Given the description of an element on the screen output the (x, y) to click on. 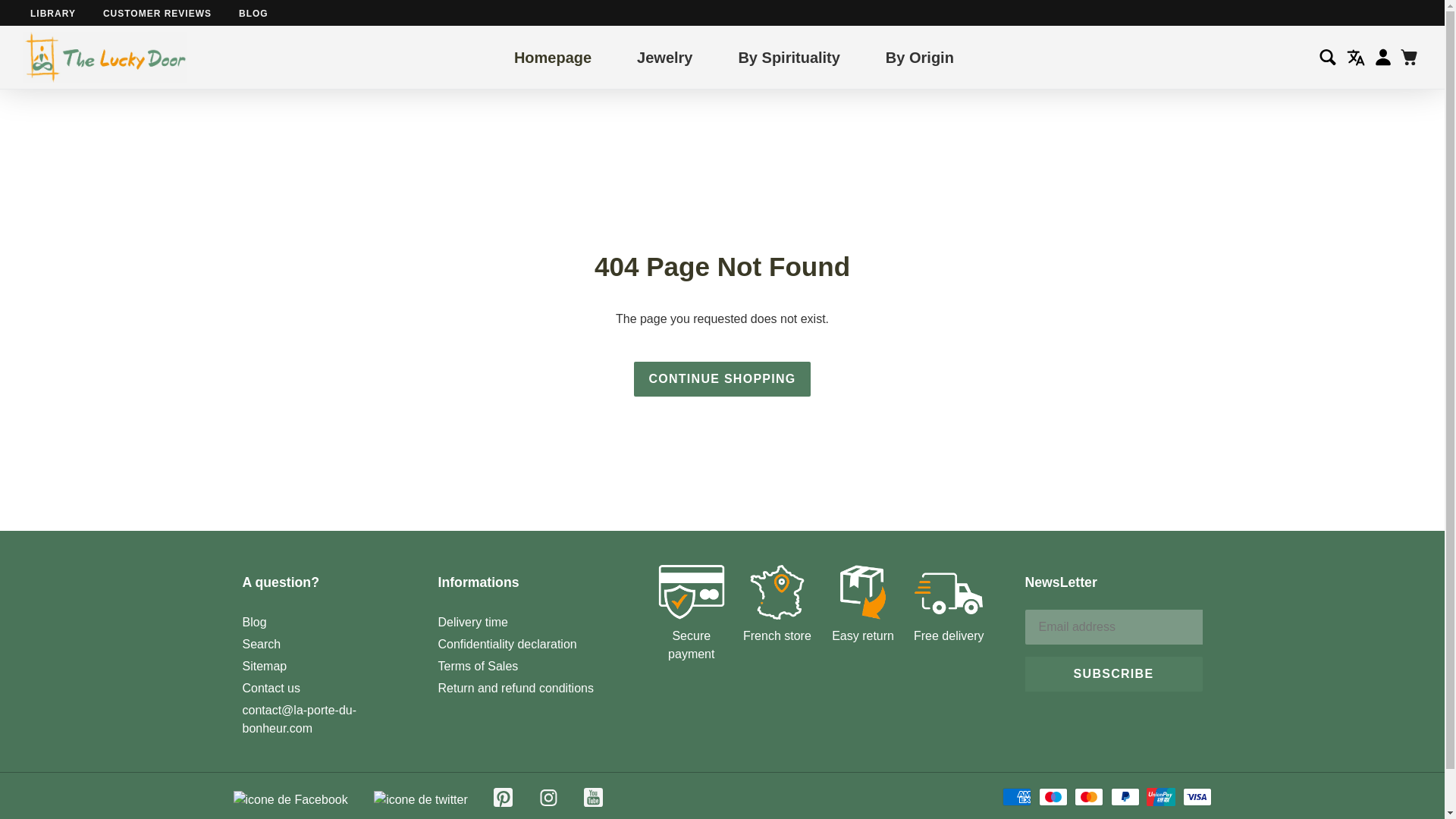
Homepage (552, 56)
Union Pay (1160, 796)
Jewelry (664, 56)
American Express (1016, 796)
By Spirituality (788, 56)
CUSTOMER REVIEWS (157, 13)
LIBRARY (52, 13)
Homepage (552, 56)
By Origin (918, 56)
Visa (1196, 796)
Mastercard (1088, 796)
BLOG (252, 13)
Maestro (1053, 796)
PayPal (1125, 796)
